Given the description of an element on the screen output the (x, y) to click on. 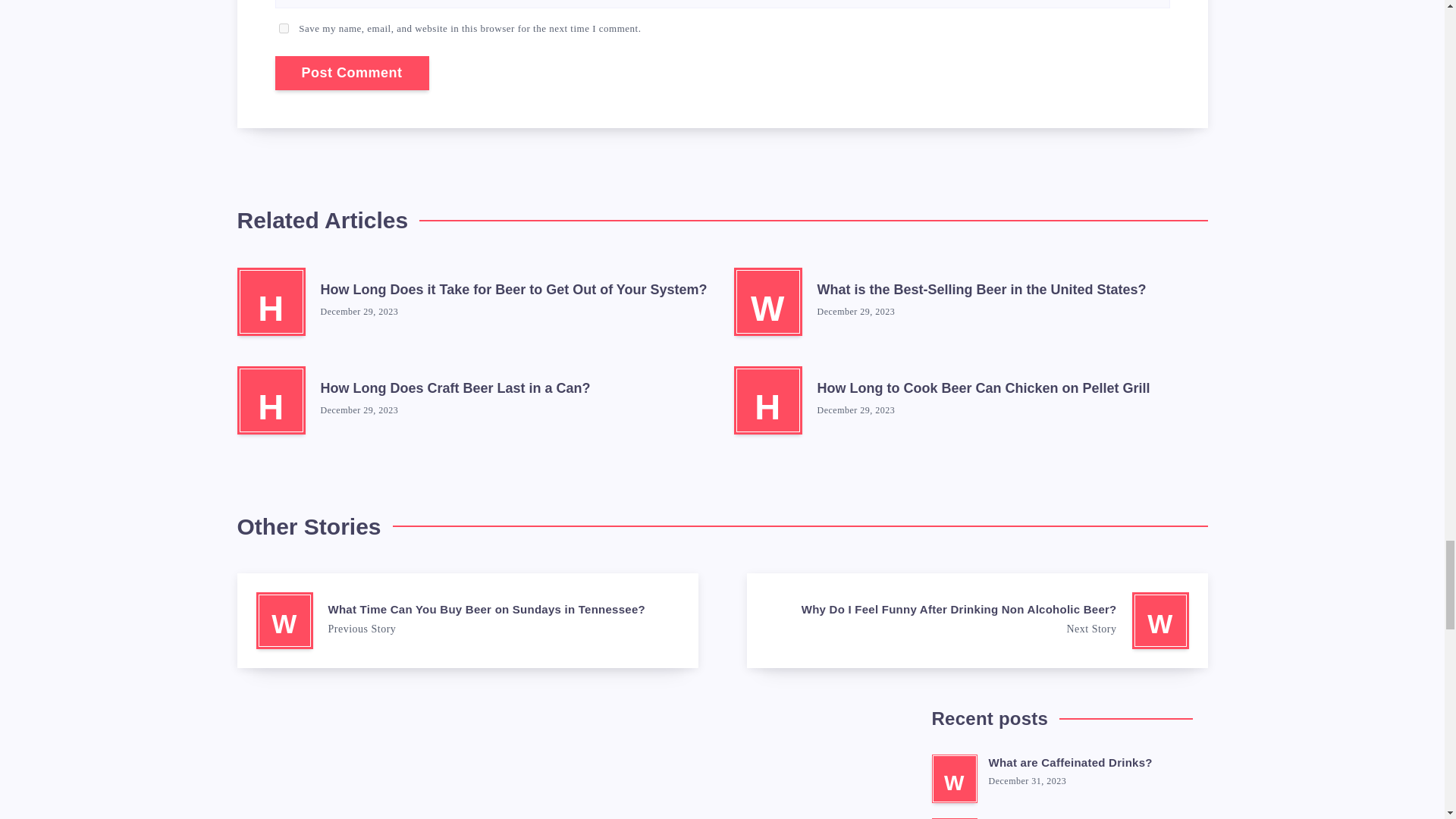
H (767, 400)
H (269, 301)
Post Comment (351, 73)
How Long Does Craft Beer Last in a Can? (454, 389)
What are Caffeinated Drinks? (1070, 764)
Post Comment (351, 73)
How Long Does it Take for Beer to Get Out of Your System? (513, 291)
What is the Best-Selling Beer in the United States? (981, 291)
How Long to Cook Beer Can Chicken on Pellet Grill (983, 389)
yes (283, 28)
W (953, 778)
W (953, 818)
W (767, 301)
H (269, 400)
